Given the description of an element on the screen output the (x, y) to click on. 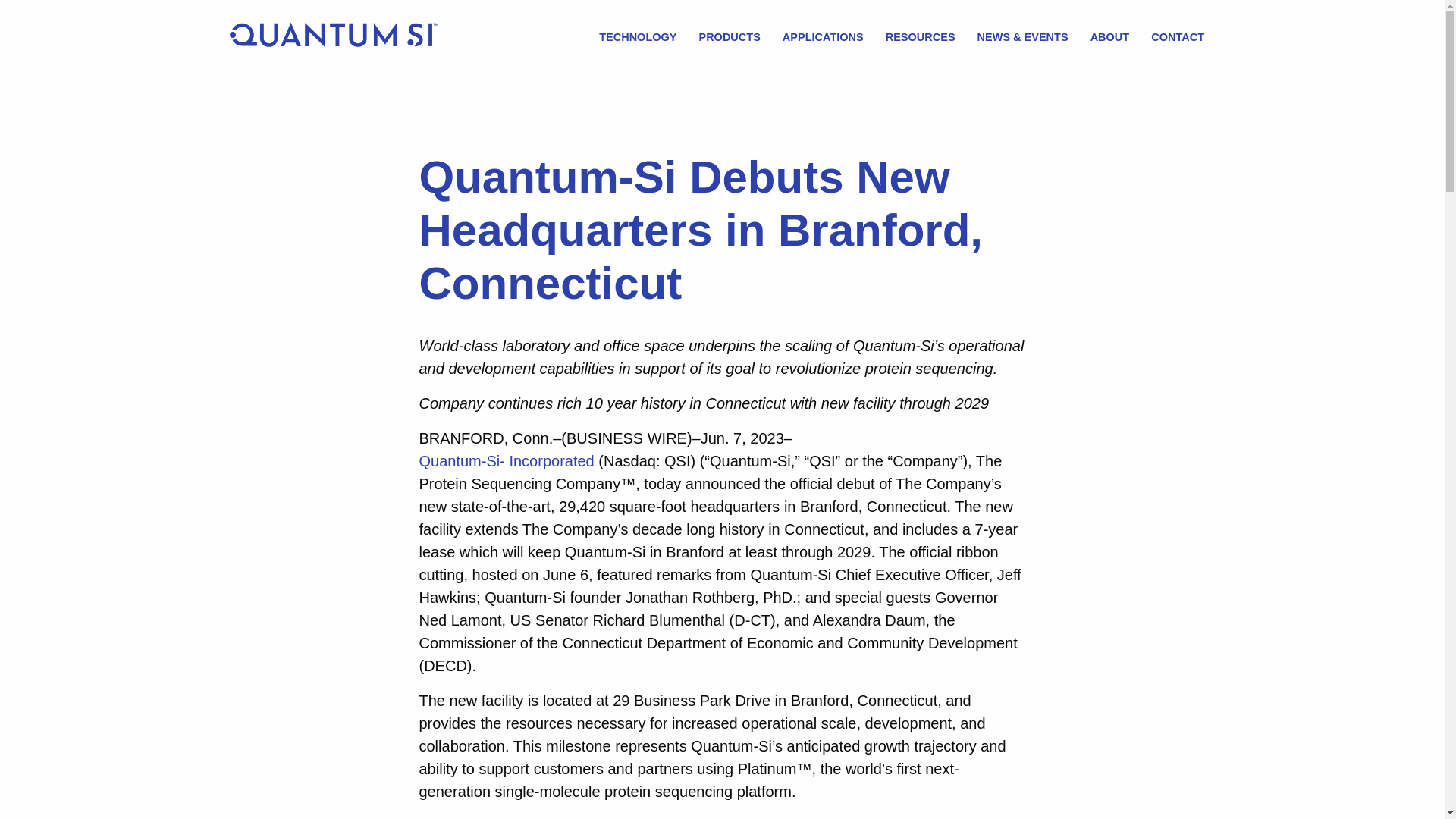
ABOUT (1109, 37)
PRODUCTS (729, 37)
RESOURCES (919, 37)
TECHNOLOGY (638, 37)
Quantum-Si- Incorporated (506, 460)
CONTACT (1177, 37)
APPLICATIONS (823, 37)
